Given the description of an element on the screen output the (x, y) to click on. 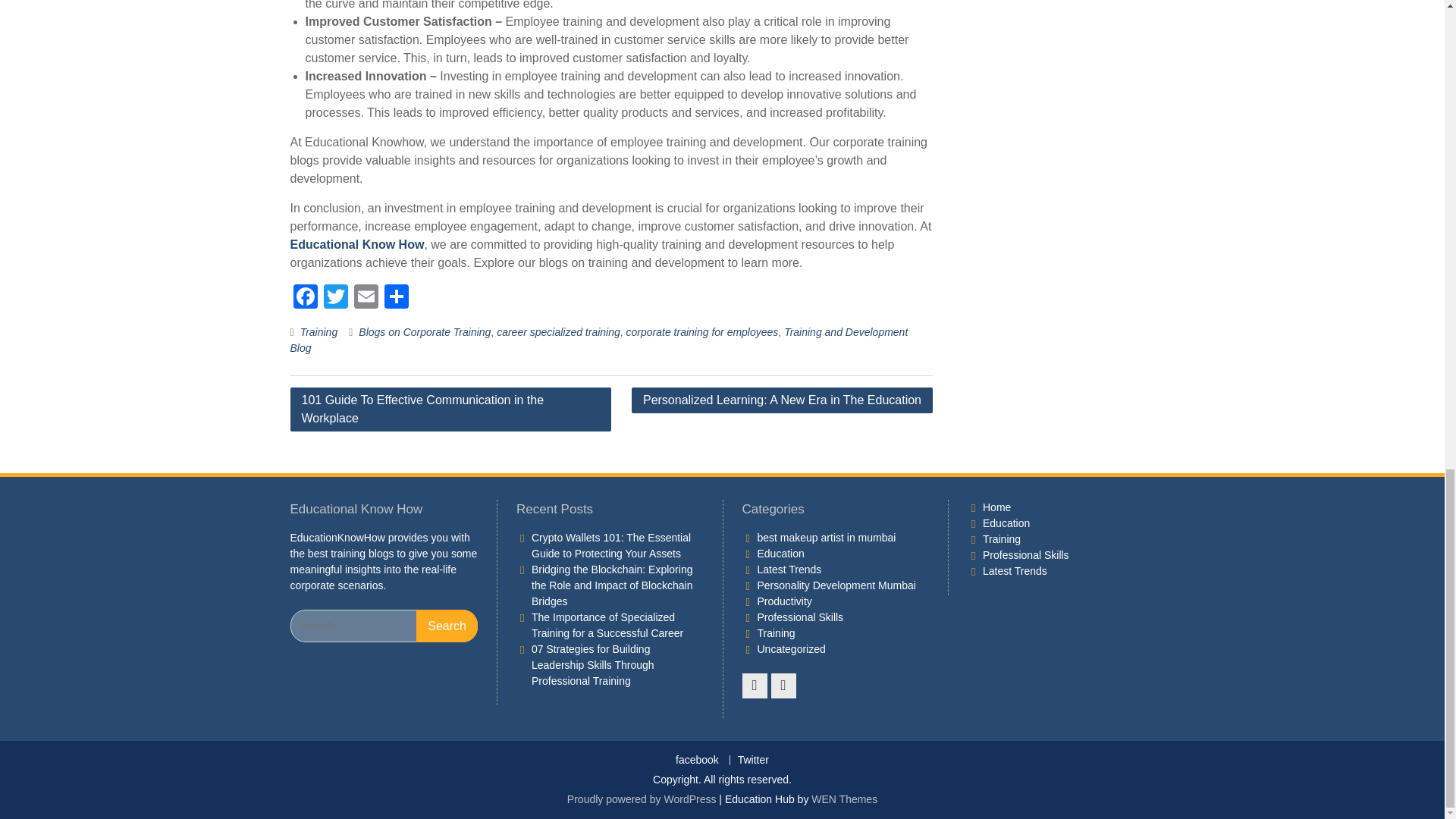
Blogs on Corporate Training (424, 331)
Facebook (304, 298)
Facebook (304, 298)
Education (780, 553)
Latest Trends (789, 569)
Training (318, 331)
Personality Development in Mumbai (836, 585)
Personalized Learning: A New Era in The Education (782, 400)
Twitter (335, 298)
Training and Development Blog (598, 339)
101 Guide To Effective Communication in the Workplace (450, 409)
Uncategorized blogs (791, 648)
corporate training for employees (702, 331)
